Given the description of an element on the screen output the (x, y) to click on. 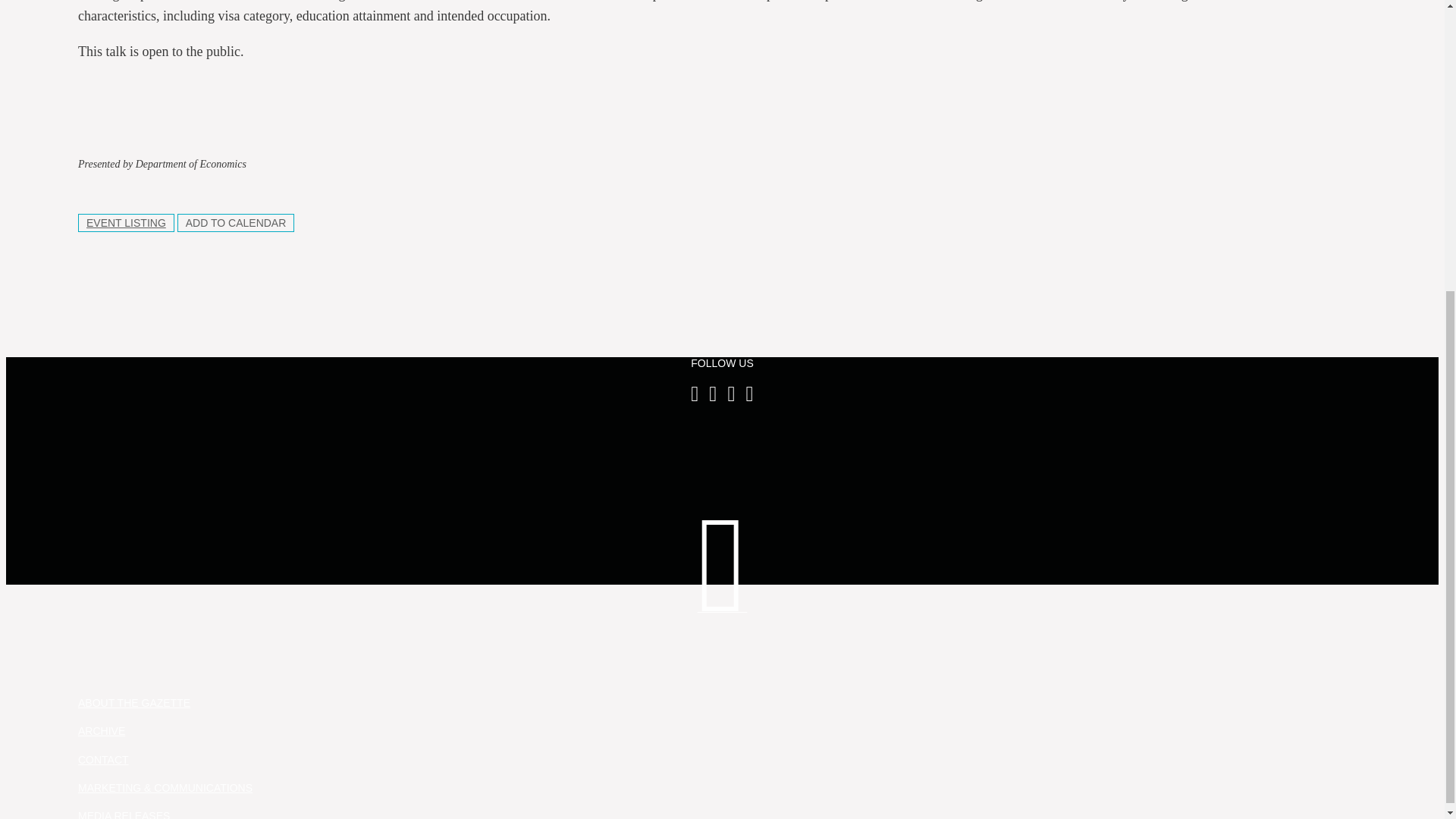
ADD TO CALENDAR (236, 222)
EVENT LISTING (126, 222)
